Given the description of an element on the screen output the (x, y) to click on. 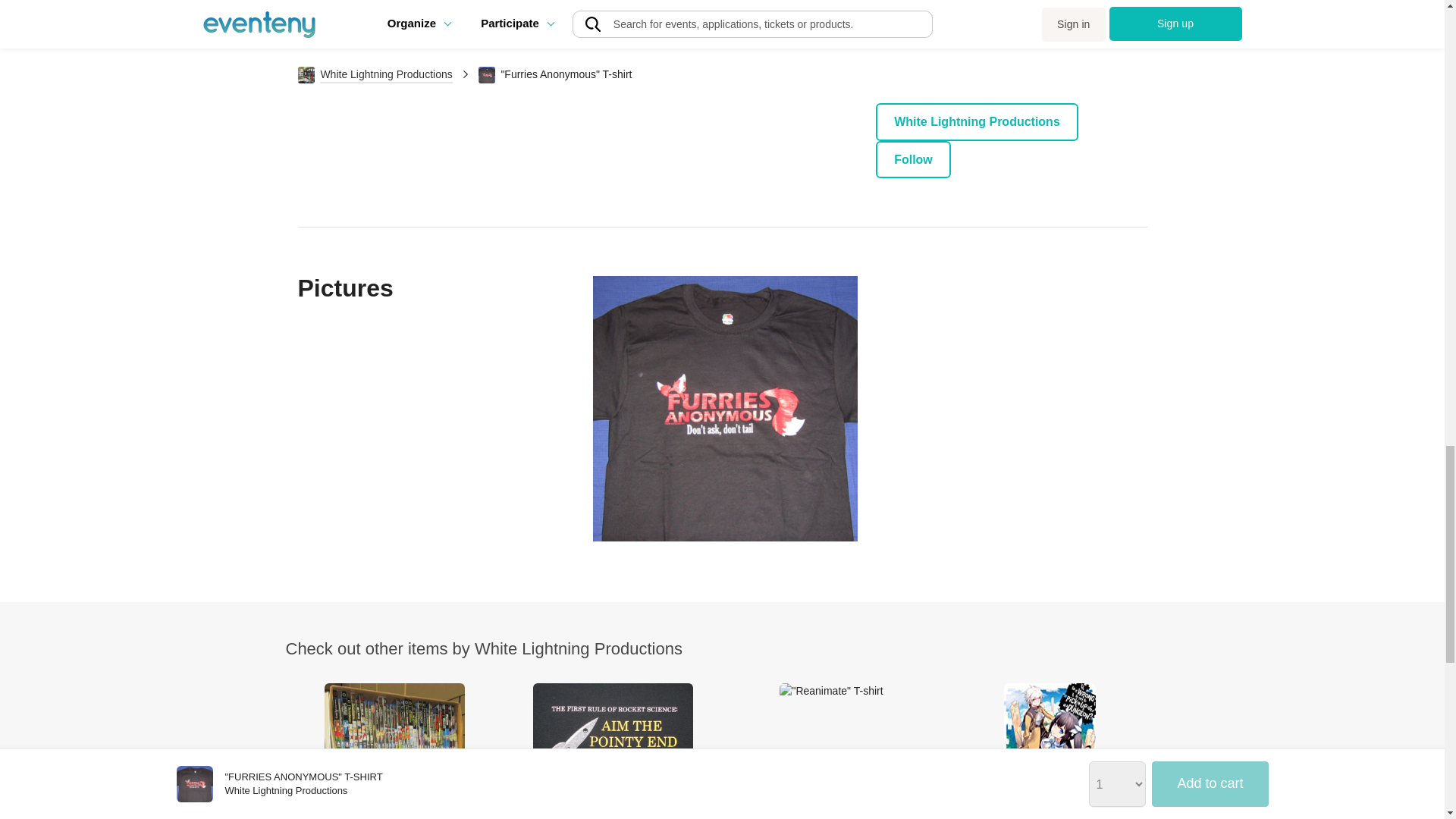
White Lightning Productions (977, 121)
View or purchase "First Rule" T-shirt (612, 751)
View or purchase Studio Ghibli DVDs (394, 751)
Follow White Lightning Productions (913, 159)
View or purchase "Reanimate" T-shirt (831, 751)
